Given the description of an element on the screen output the (x, y) to click on. 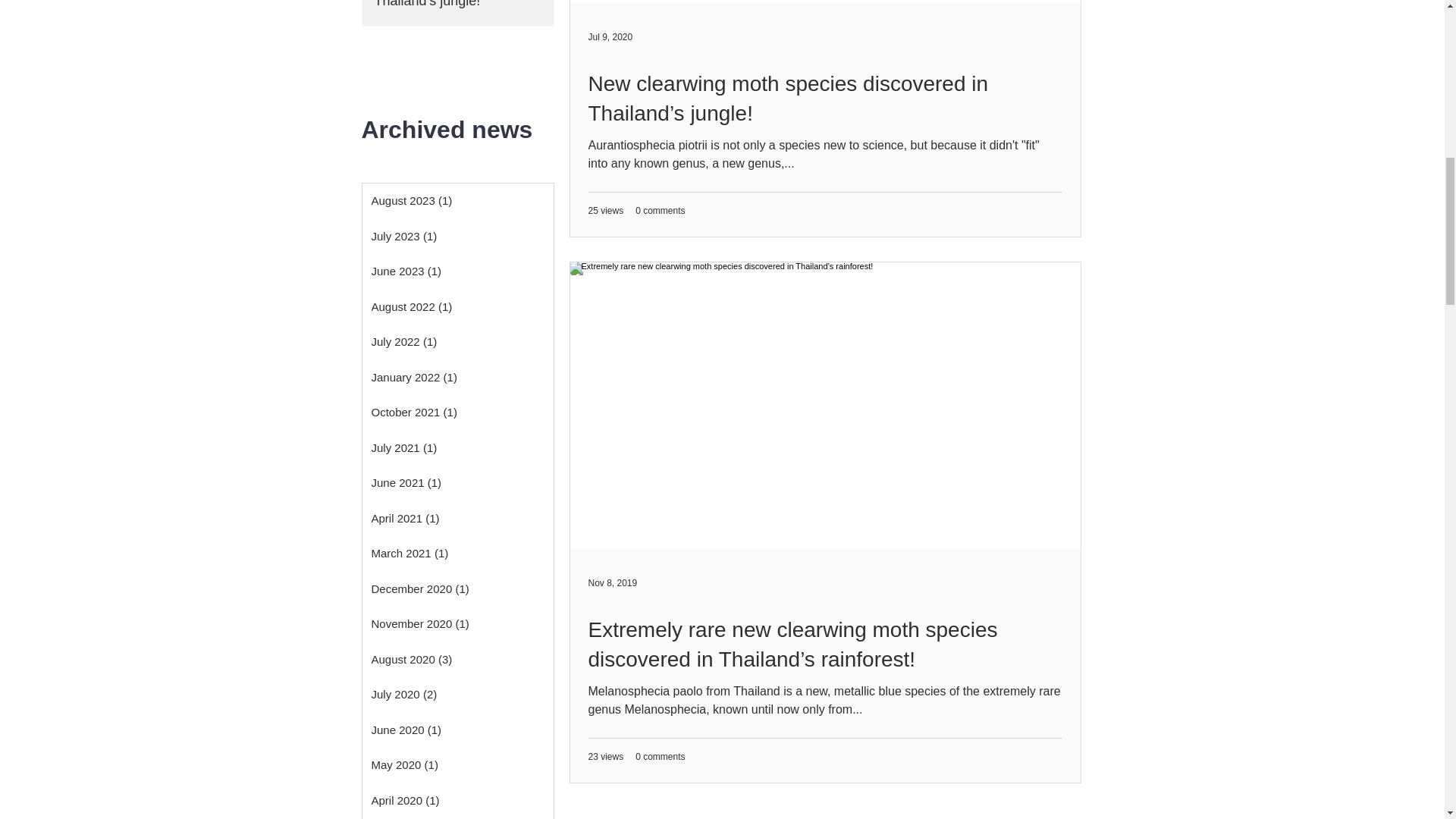
Jul 9, 2020 (610, 36)
Nov 8, 2019 (612, 583)
Dec 29, 2017 (401, 29)
